Given the description of an element on the screen output the (x, y) to click on. 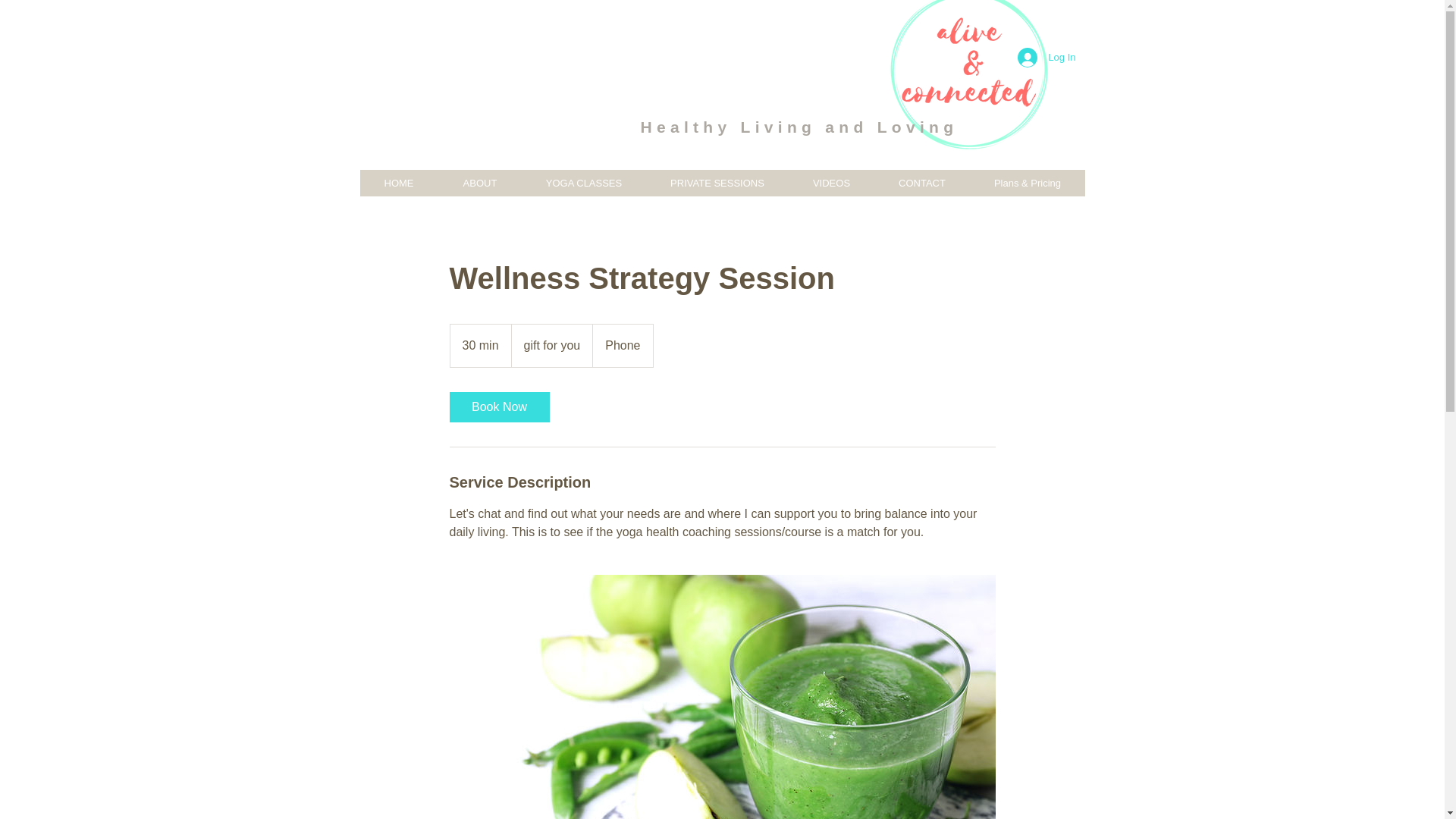
HOME (398, 182)
ABOUT (479, 182)
Log In (1046, 57)
Book Now (498, 407)
VIDEOS (832, 182)
PRIVATE SESSIONS (717, 182)
CONTACT (921, 182)
YOGA CLASSES (583, 182)
